Given the description of an element on the screen output the (x, y) to click on. 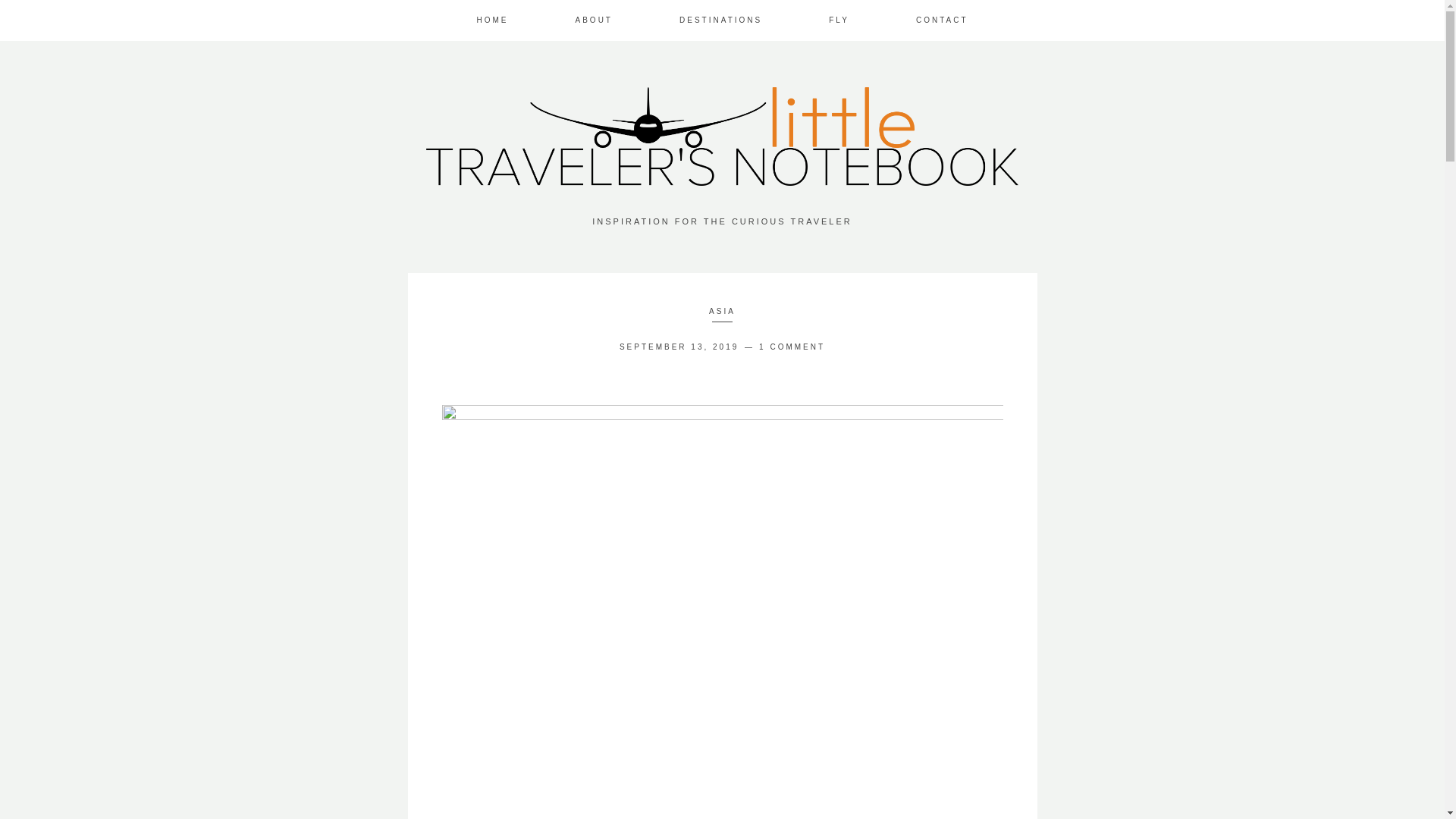
ABOUT (593, 20)
WHERE DO YOU WANT TO GO TODAY? (720, 20)
DESTINATIONS (720, 20)
